Given the description of an element on the screen output the (x, y) to click on. 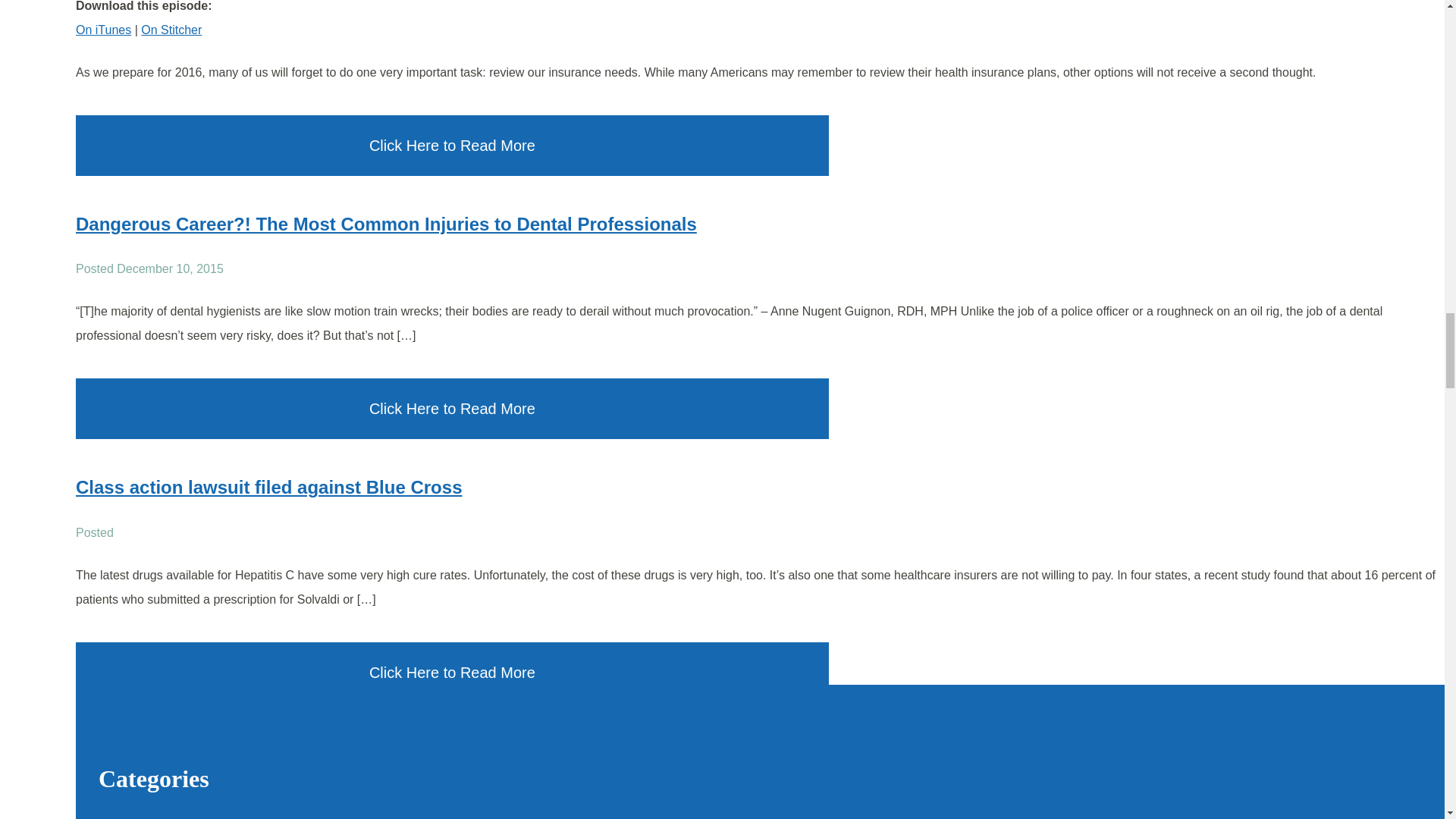
Read more (268, 486)
Read more (386, 223)
